Given the description of an element on the screen output the (x, y) to click on. 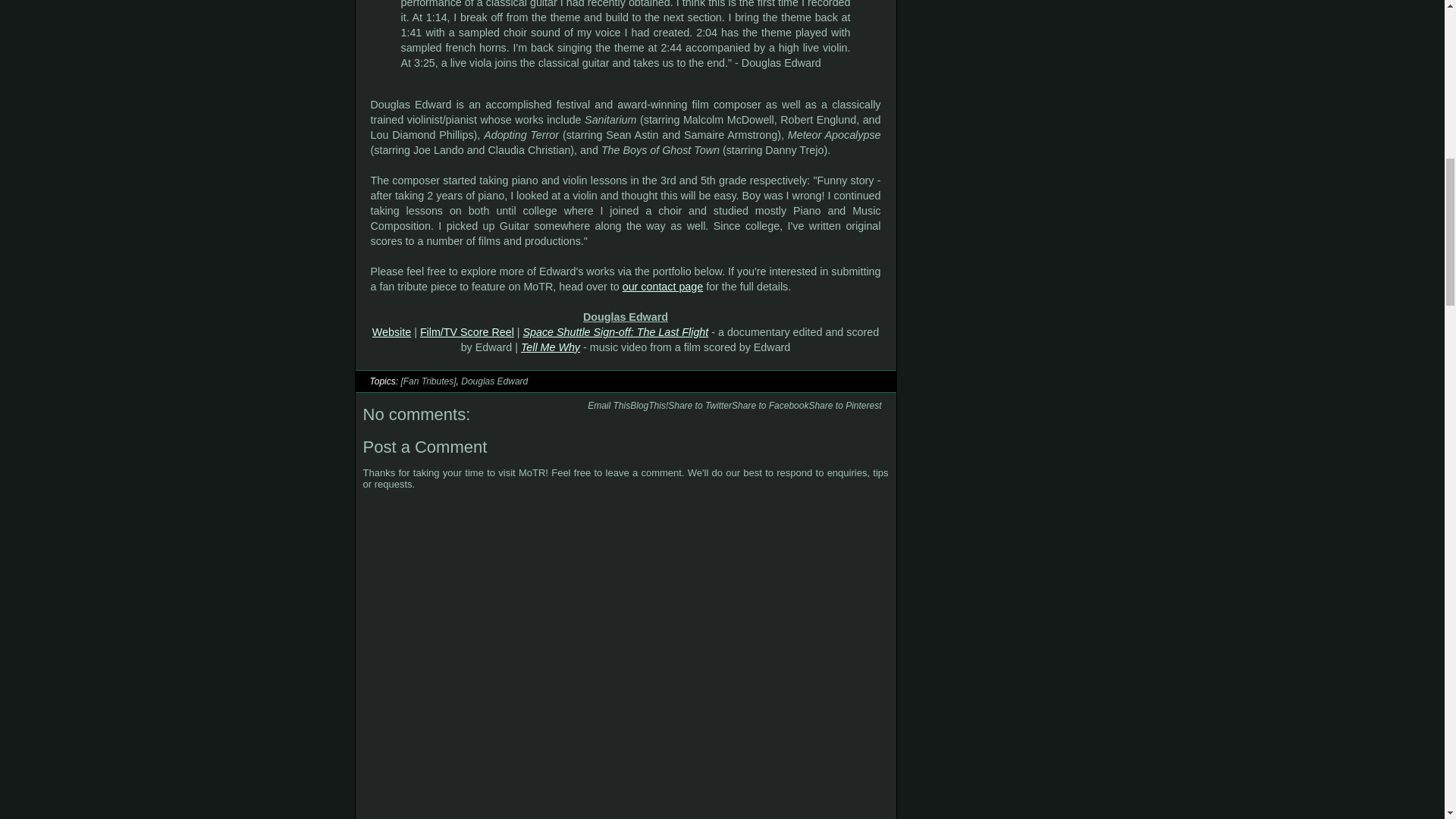
Share to Facebook (770, 405)
Douglas Edward (494, 380)
Share to Twitter (700, 405)
BlogThis! (649, 405)
Space Shuttle Sign-off: The Last Flight (614, 331)
BlogThis! (649, 405)
Share to Pinterest (844, 405)
Website (391, 331)
Share to Pinterest (844, 405)
Email This (609, 405)
Share to Facebook (770, 405)
our contact page (663, 286)
Share to Twitter (700, 405)
Tell Me Why (550, 346)
Email This (609, 405)
